Given the description of an element on the screen output the (x, y) to click on. 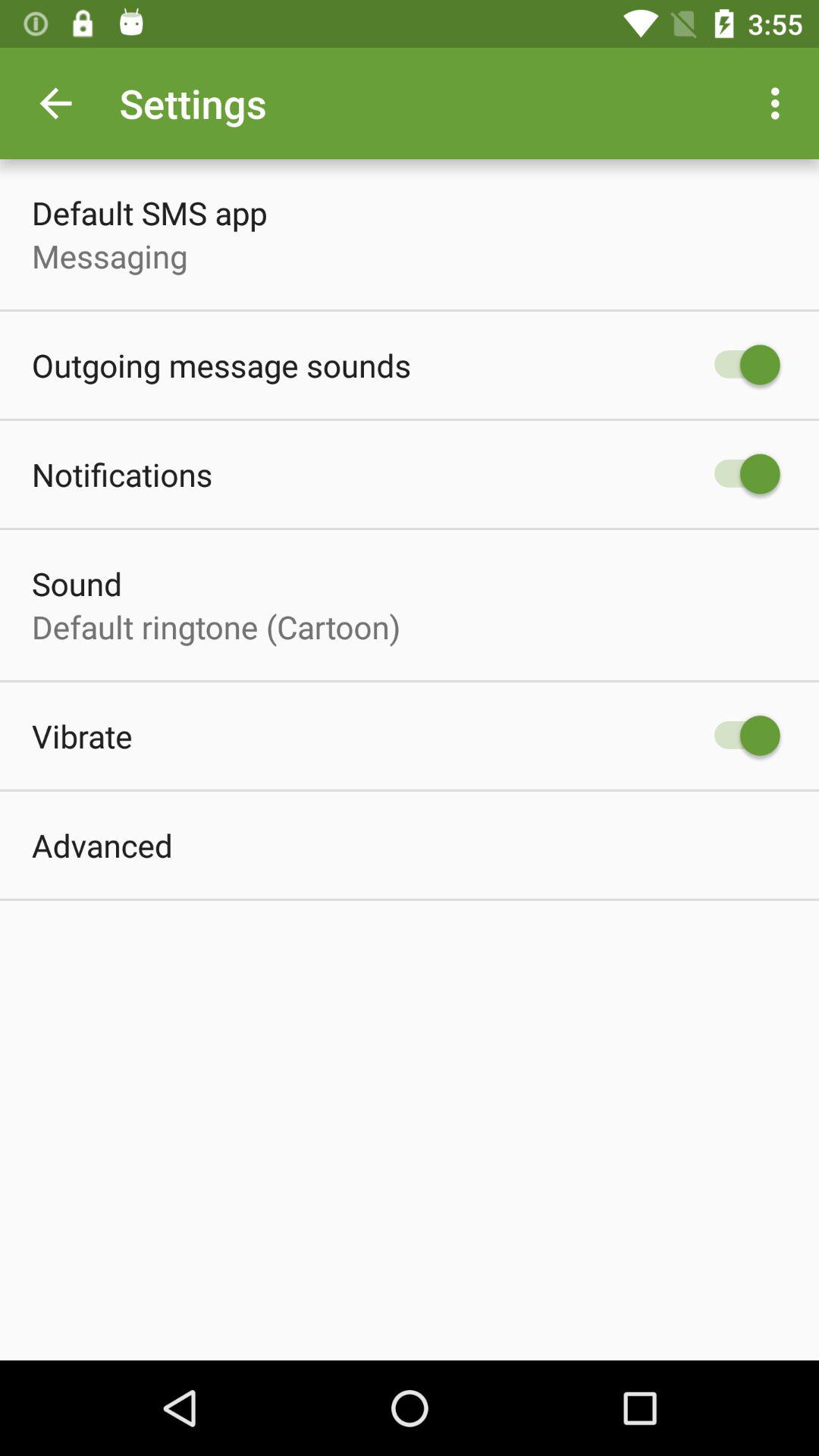
turn off the sound icon (76, 583)
